Given the description of an element on the screen output the (x, y) to click on. 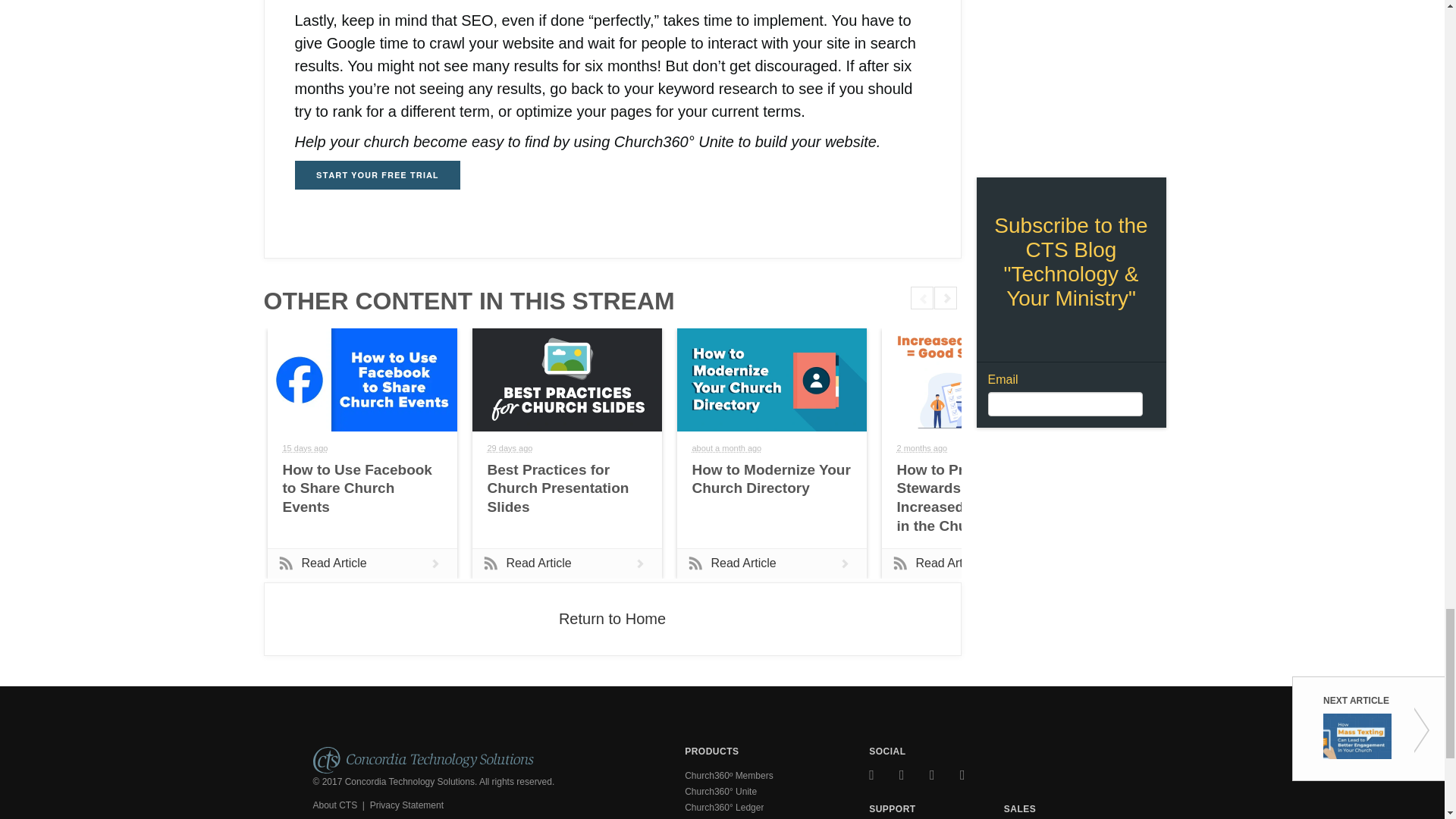
2024-07-09T07:00:00 (304, 447)
2024-06-11T07:00:00 (726, 447)
2024-05-28T13:00:00 (921, 447)
2024-06-25T07:00:00 (509, 447)
